Given the description of an element on the screen output the (x, y) to click on. 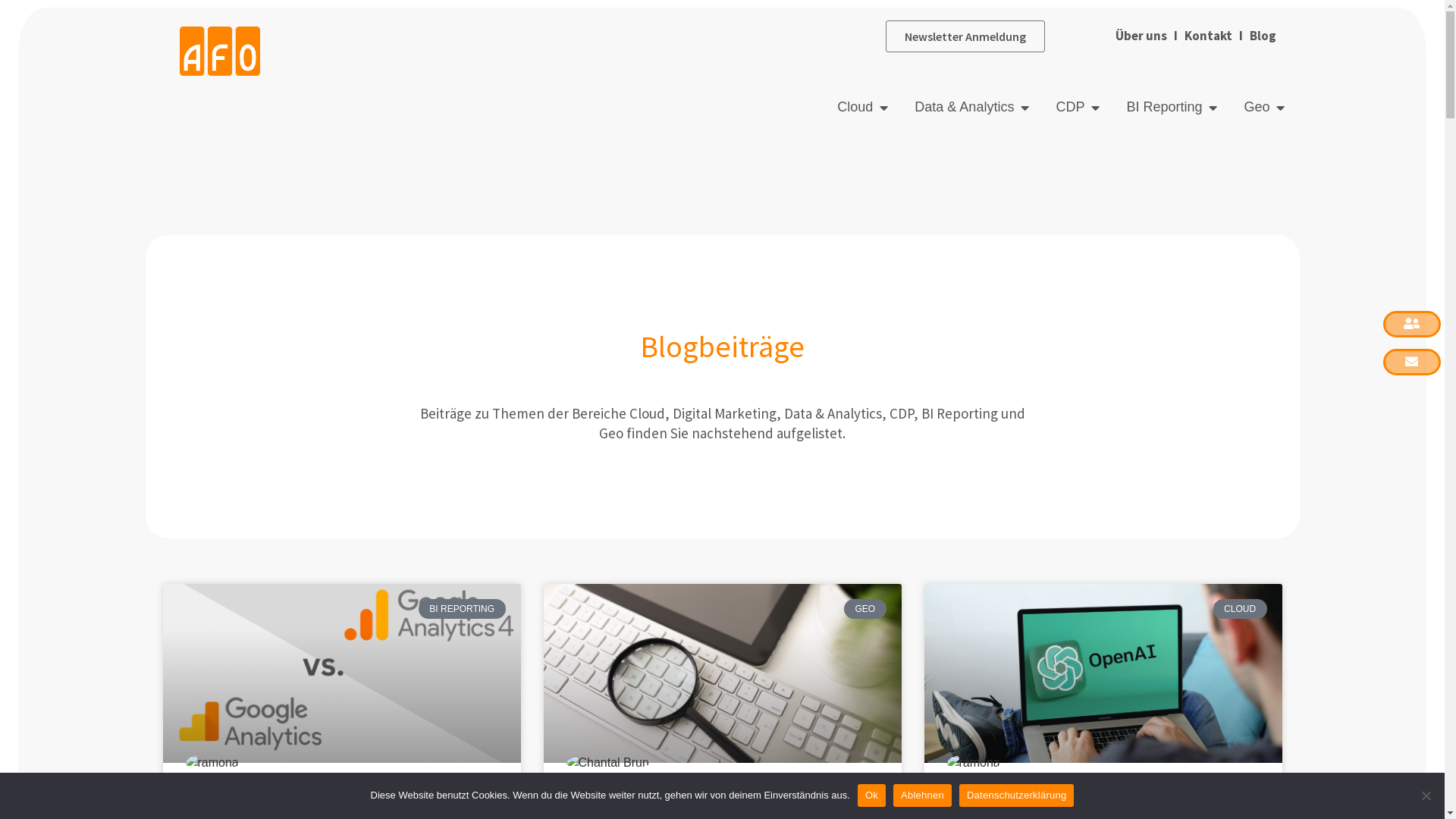
 Blog Element type: text (1261, 35)
Ablehnen Element type: hover (1425, 795)
Newsletter Anmeldung Element type: text (964, 36)
White Spot Modell Element type: text (628, 806)
Ablehnen Element type: text (922, 795)
Kontakt Element type: text (1208, 35)
Ok Element type: text (871, 795)
